Given the description of an element on the screen output the (x, y) to click on. 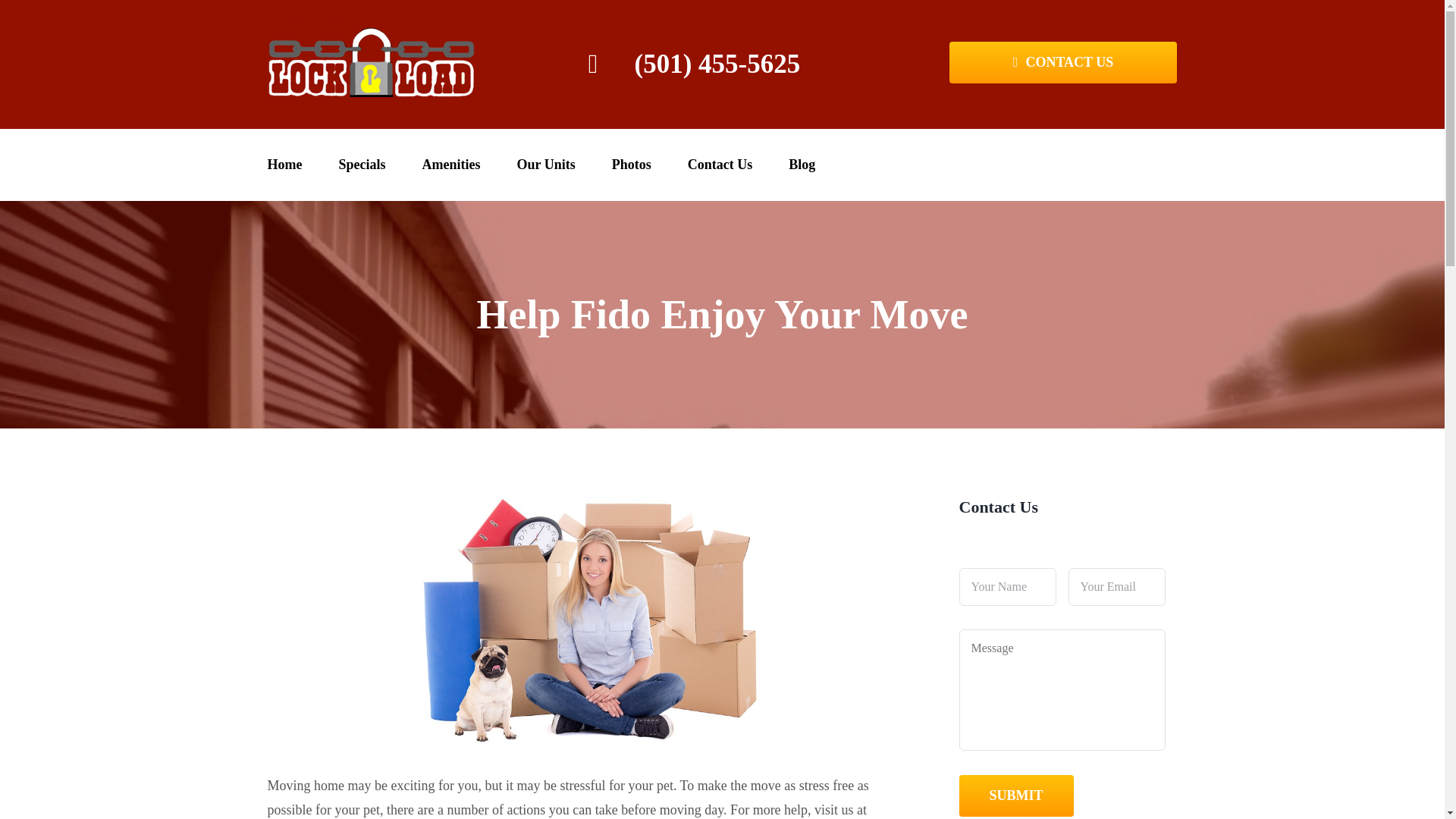
Contact Us (719, 163)
Blog (802, 163)
Photos (630, 163)
Submit (1015, 795)
CONTACT US (1063, 62)
Home (283, 163)
Amenities (451, 163)
Submit (1015, 795)
Specials (361, 163)
Contact Us (1063, 62)
Our Units (545, 163)
